Given the description of an element on the screen output the (x, y) to click on. 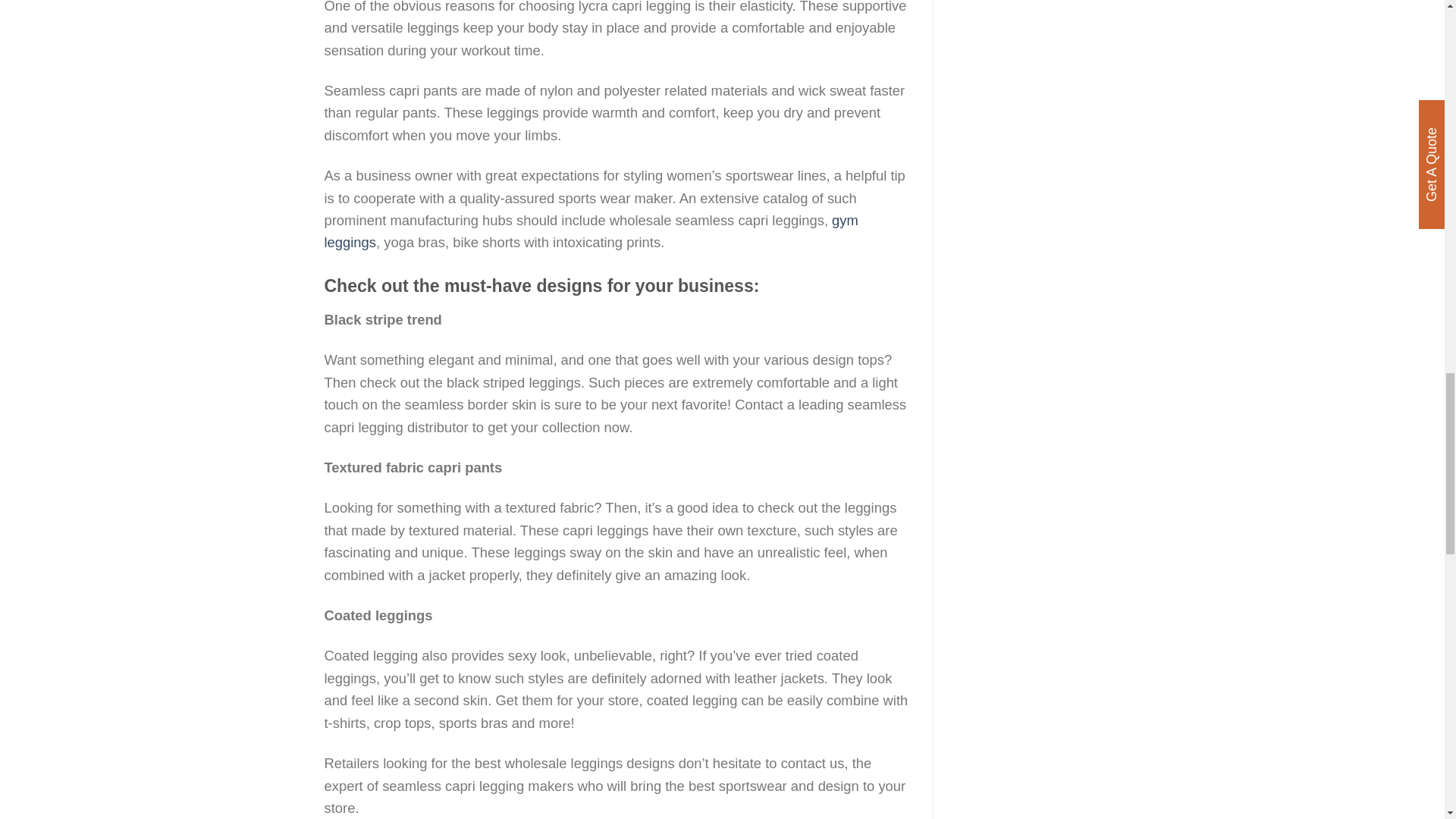
gym leggings (591, 231)
